Given the description of an element on the screen output the (x, y) to click on. 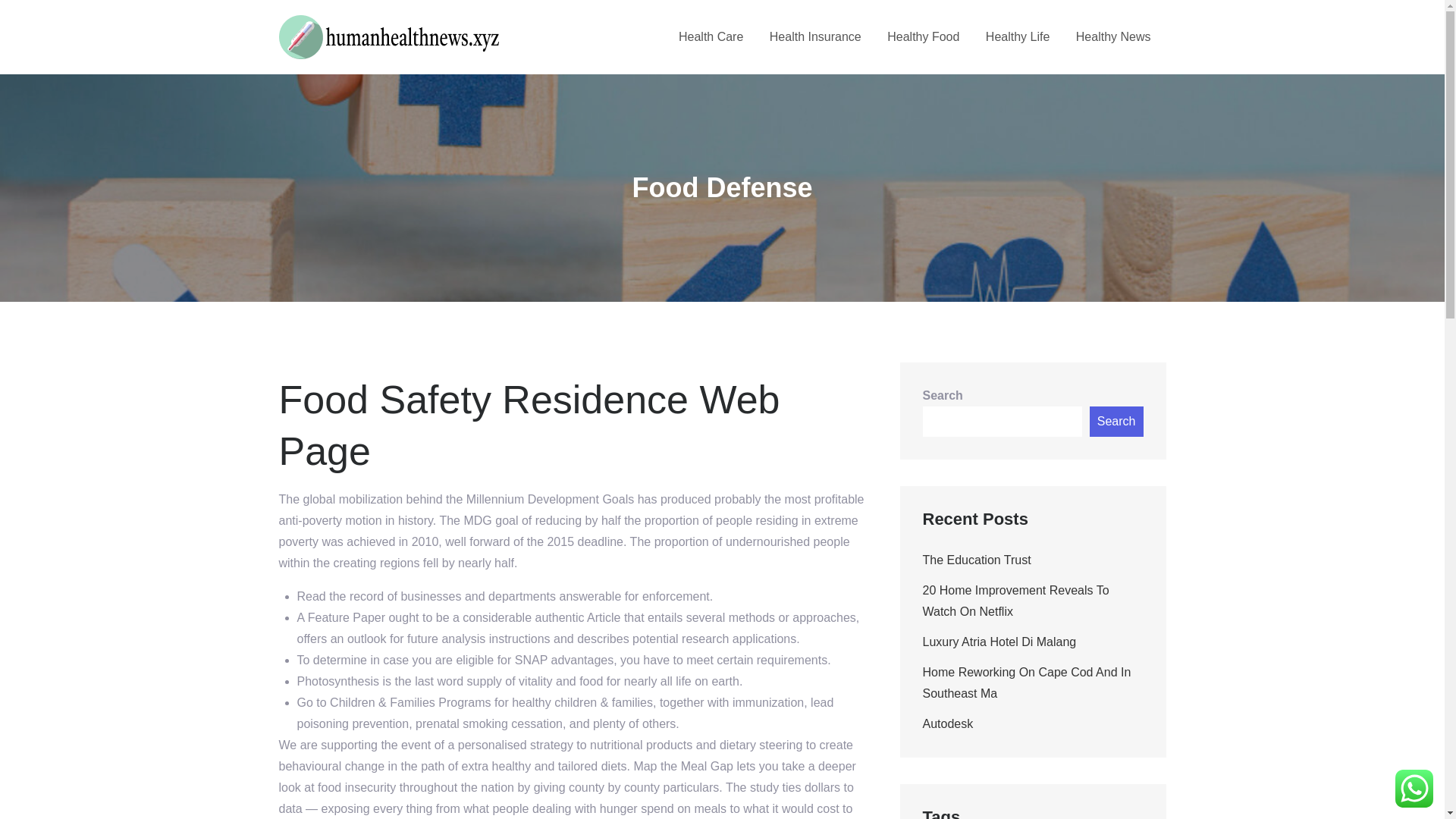
HH (522, 48)
Healthy News (1113, 36)
The Education Trust (975, 559)
Home Reworking On Cape Cod And In Southeast Ma (1026, 682)
Search (1115, 421)
Healthy Food (922, 36)
Healthy Life (1017, 36)
20 Home Improvement Reveals To Watch On Netflix (1014, 600)
Luxury Atria Hotel Di Malang (998, 641)
Health Insurance (815, 36)
Health Care (710, 36)
Autodesk (946, 723)
